Given the description of an element on the screen output the (x, y) to click on. 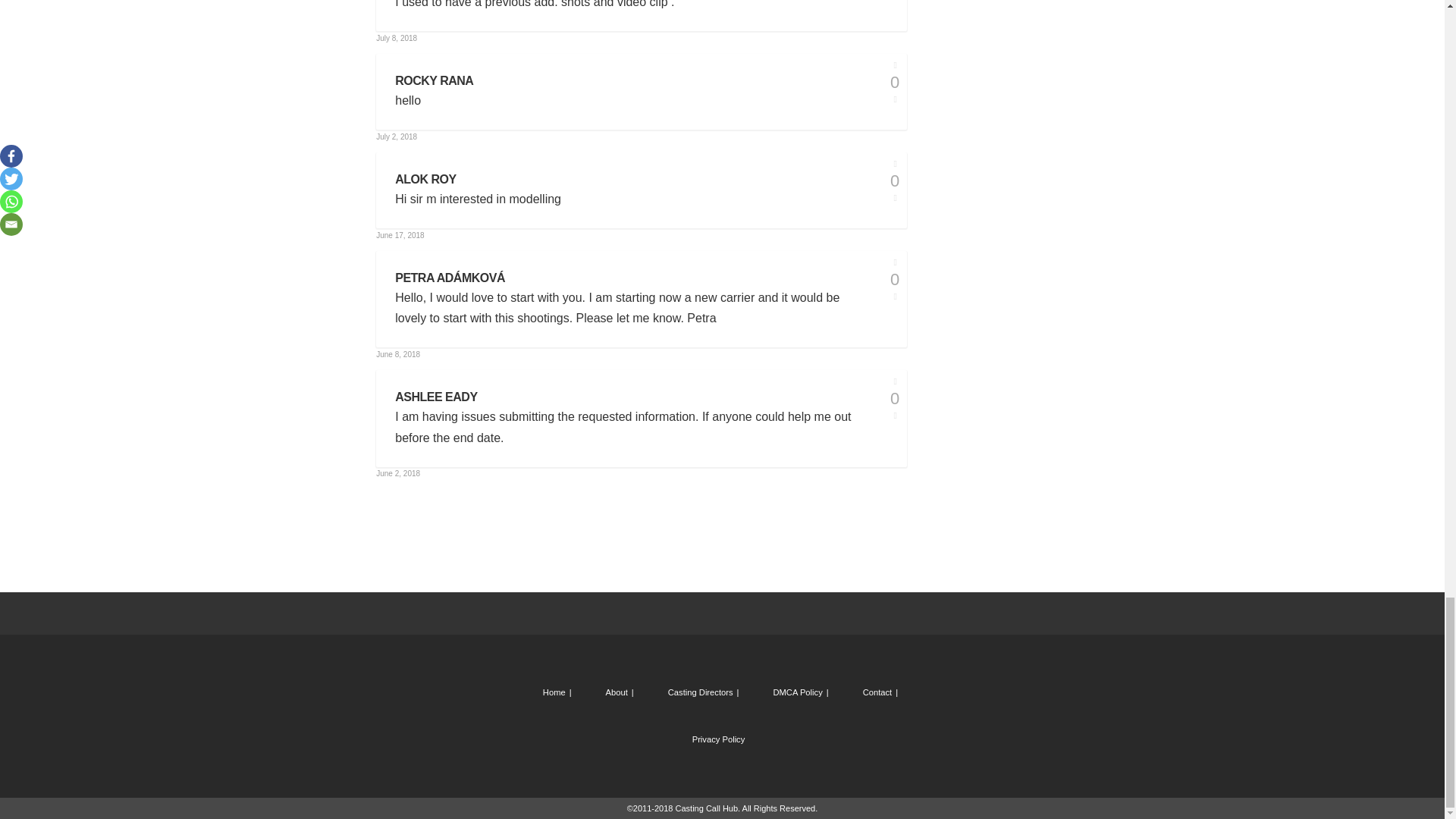
July 2, 2018 (395, 136)
June 17, 2018 (399, 234)
July 8, 2018 (395, 38)
